Given the description of an element on the screen output the (x, y) to click on. 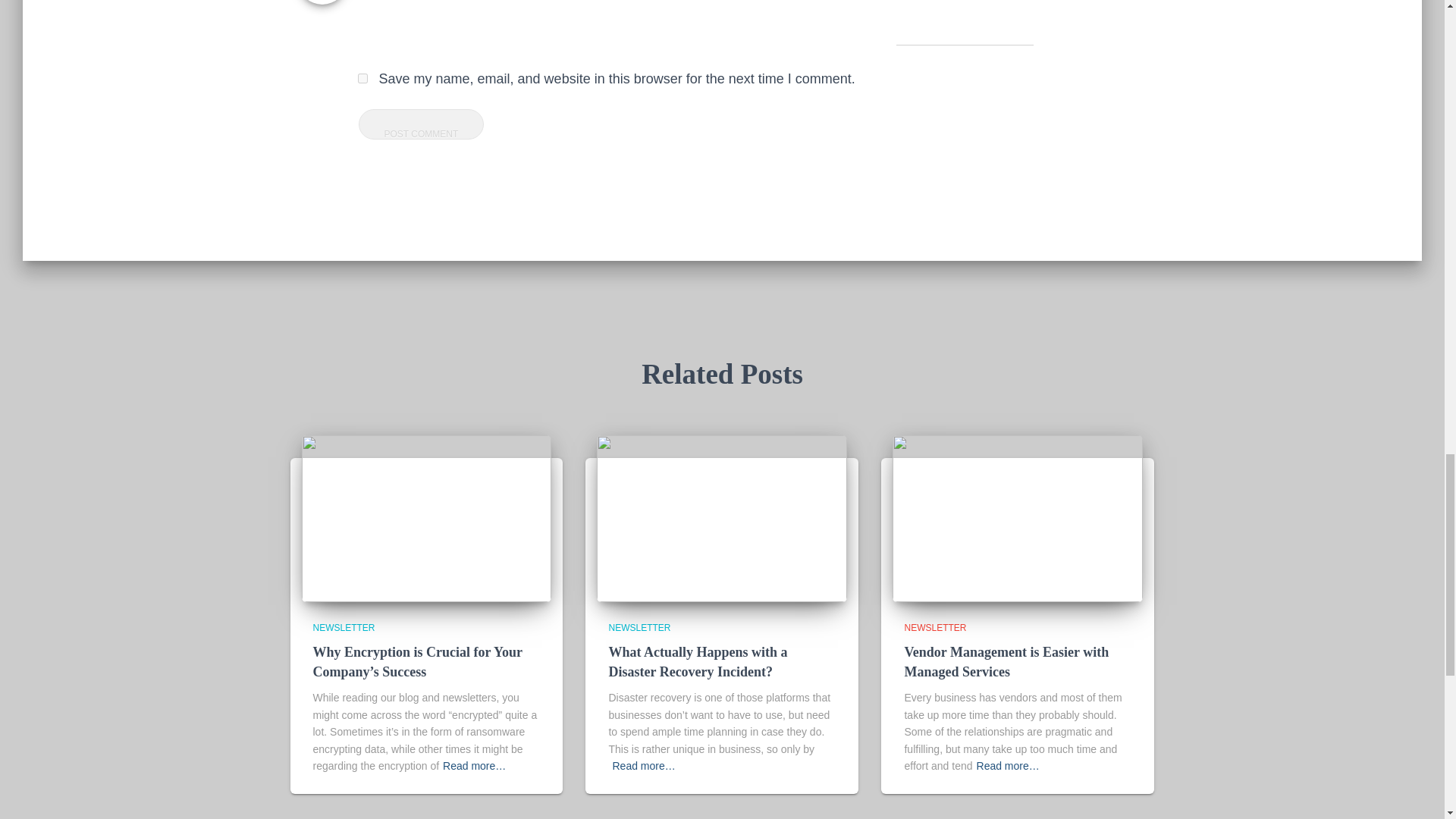
yes (363, 78)
Post Comment (420, 123)
